Given the description of an element on the screen output the (x, y) to click on. 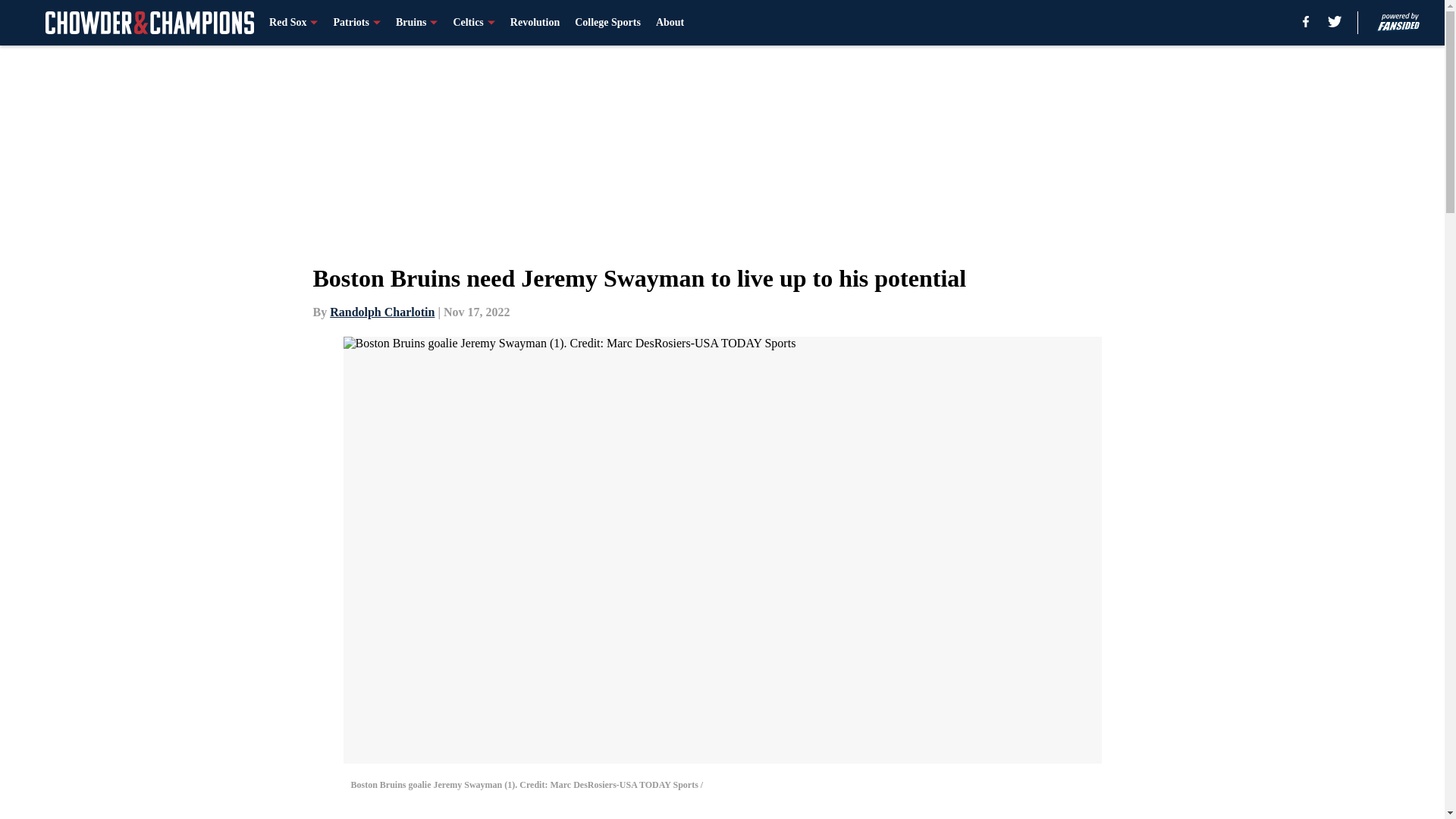
Randolph Charlotin (381, 311)
About (670, 22)
Revolution (535, 22)
College Sports (607, 22)
